Given the description of an element on the screen output the (x, y) to click on. 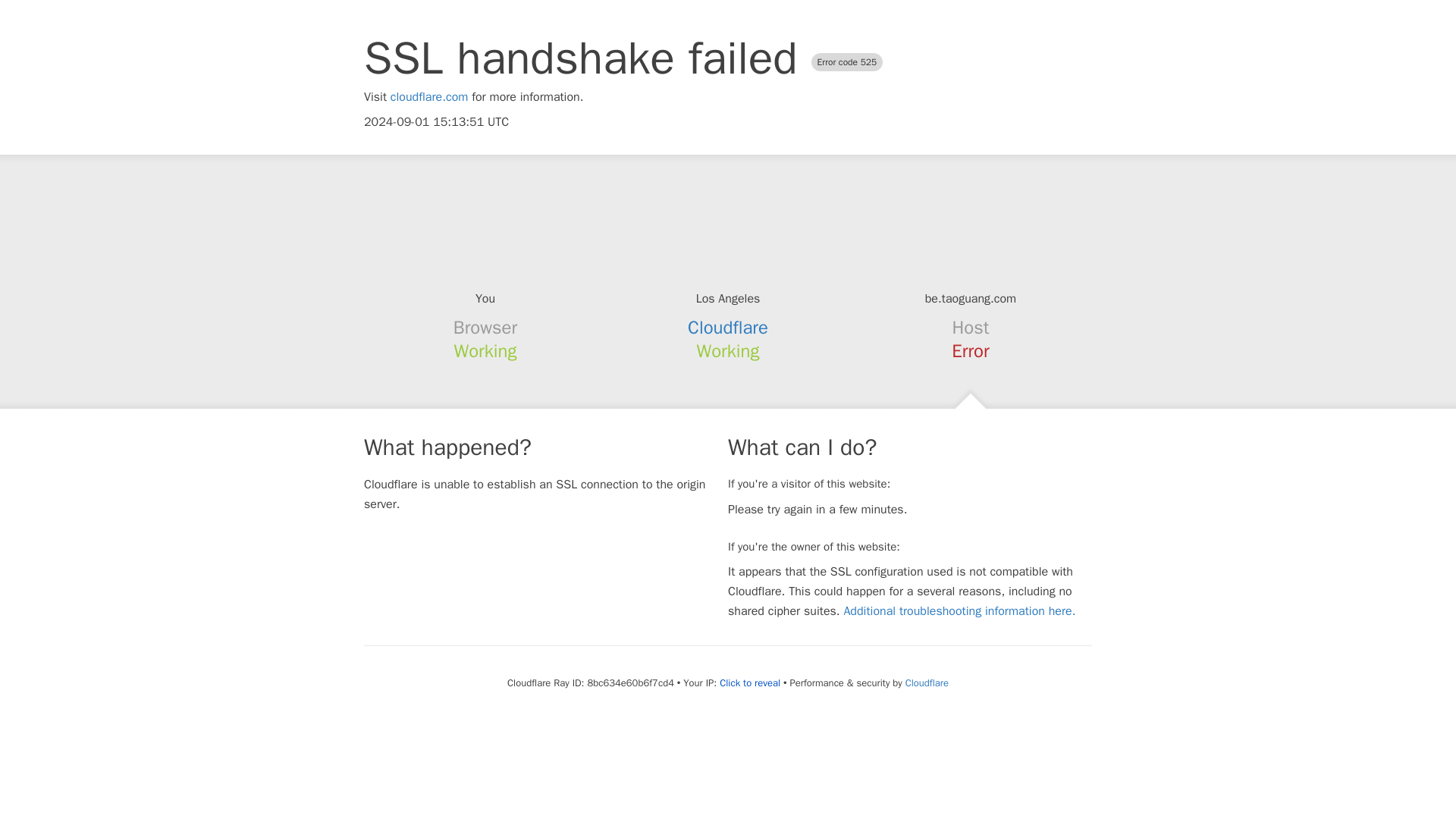
Cloudflare (927, 682)
cloudflare.com (429, 96)
Additional troubleshooting information here. (959, 611)
Click to reveal (749, 683)
Cloudflare (727, 327)
